Given the description of an element on the screen output the (x, y) to click on. 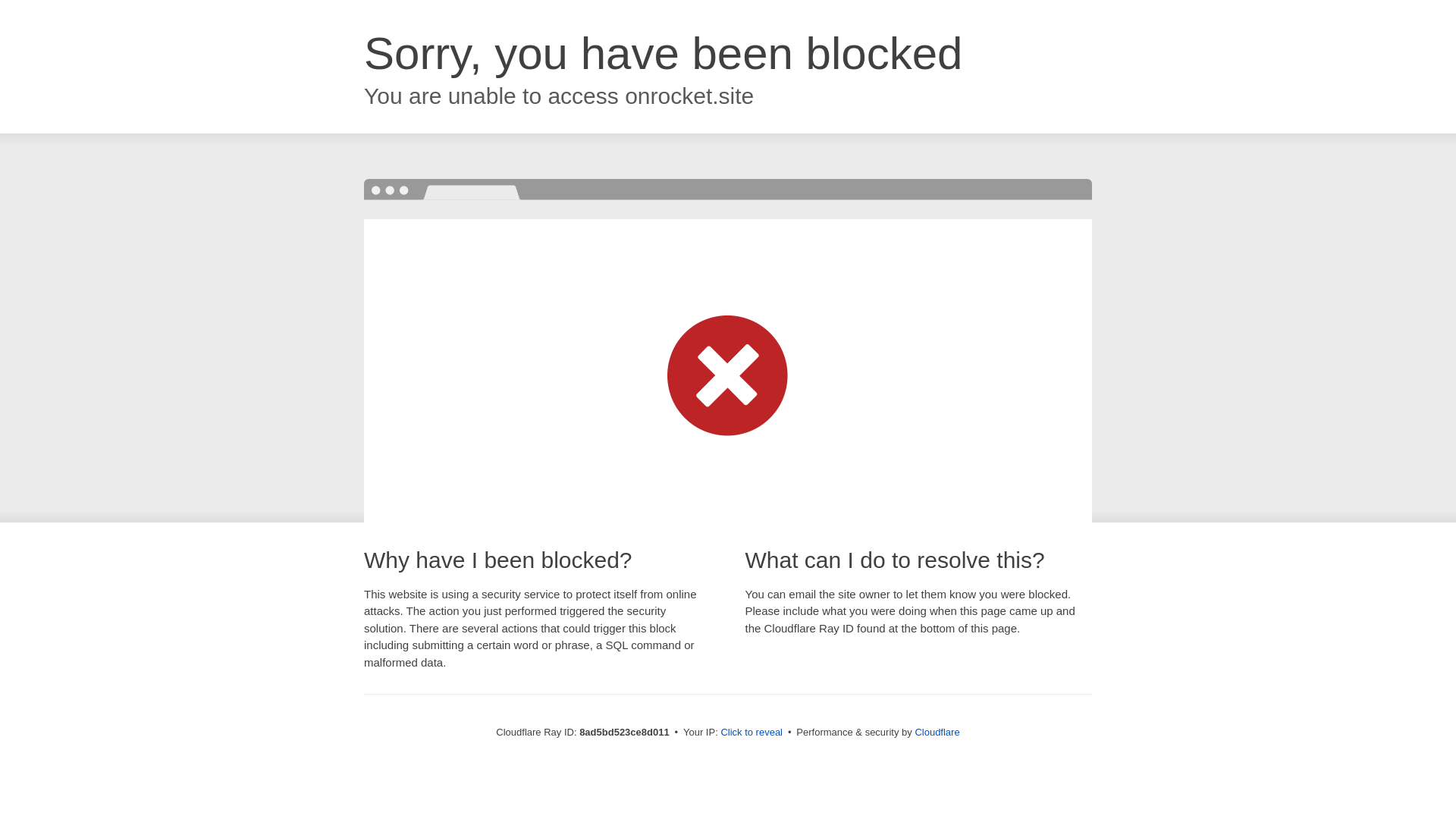
Cloudflare (936, 731)
Click to reveal (751, 732)
